Given the description of an element on the screen output the (x, y) to click on. 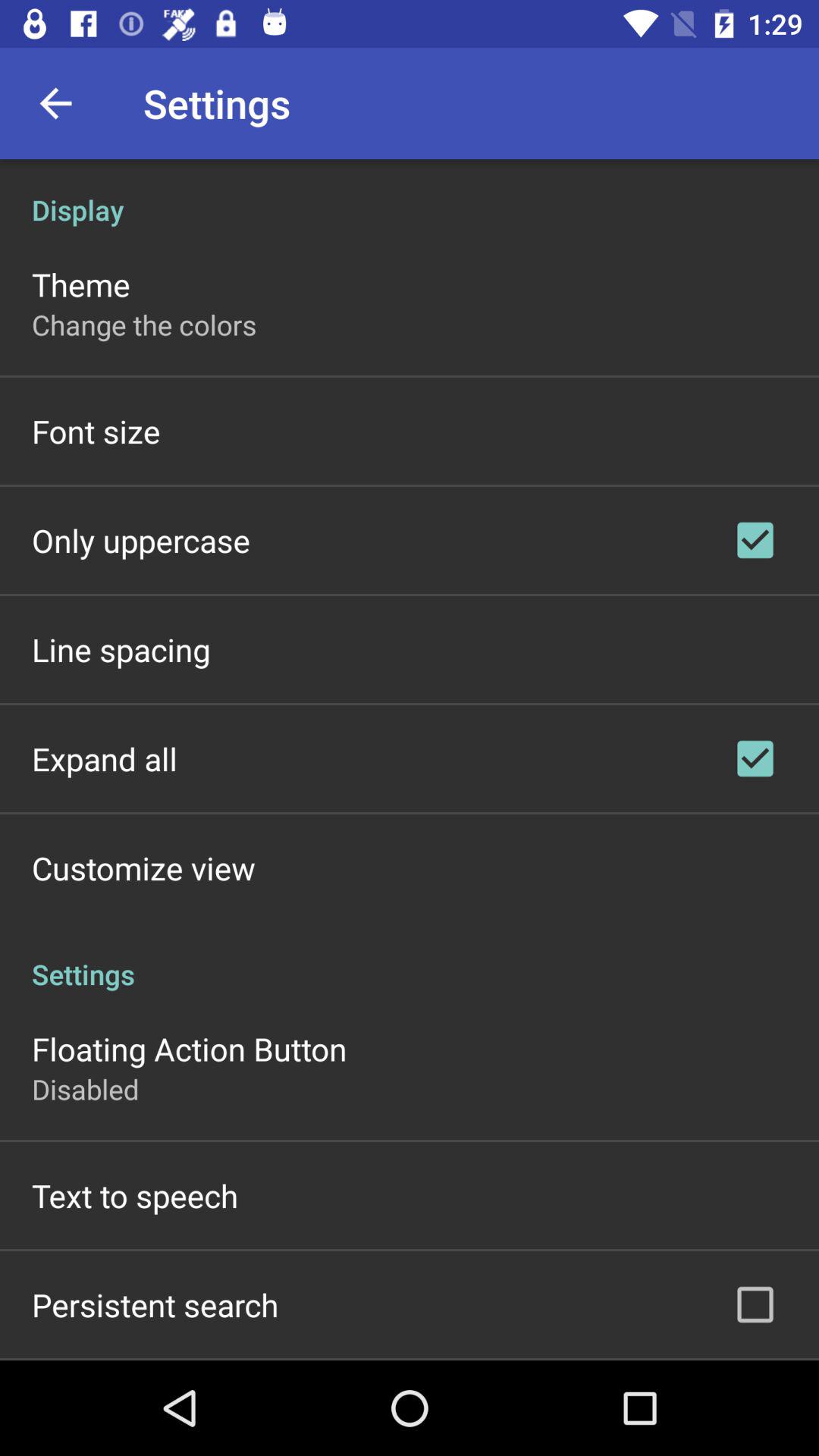
swipe until the line spacing (120, 649)
